Given the description of an element on the screen output the (x, y) to click on. 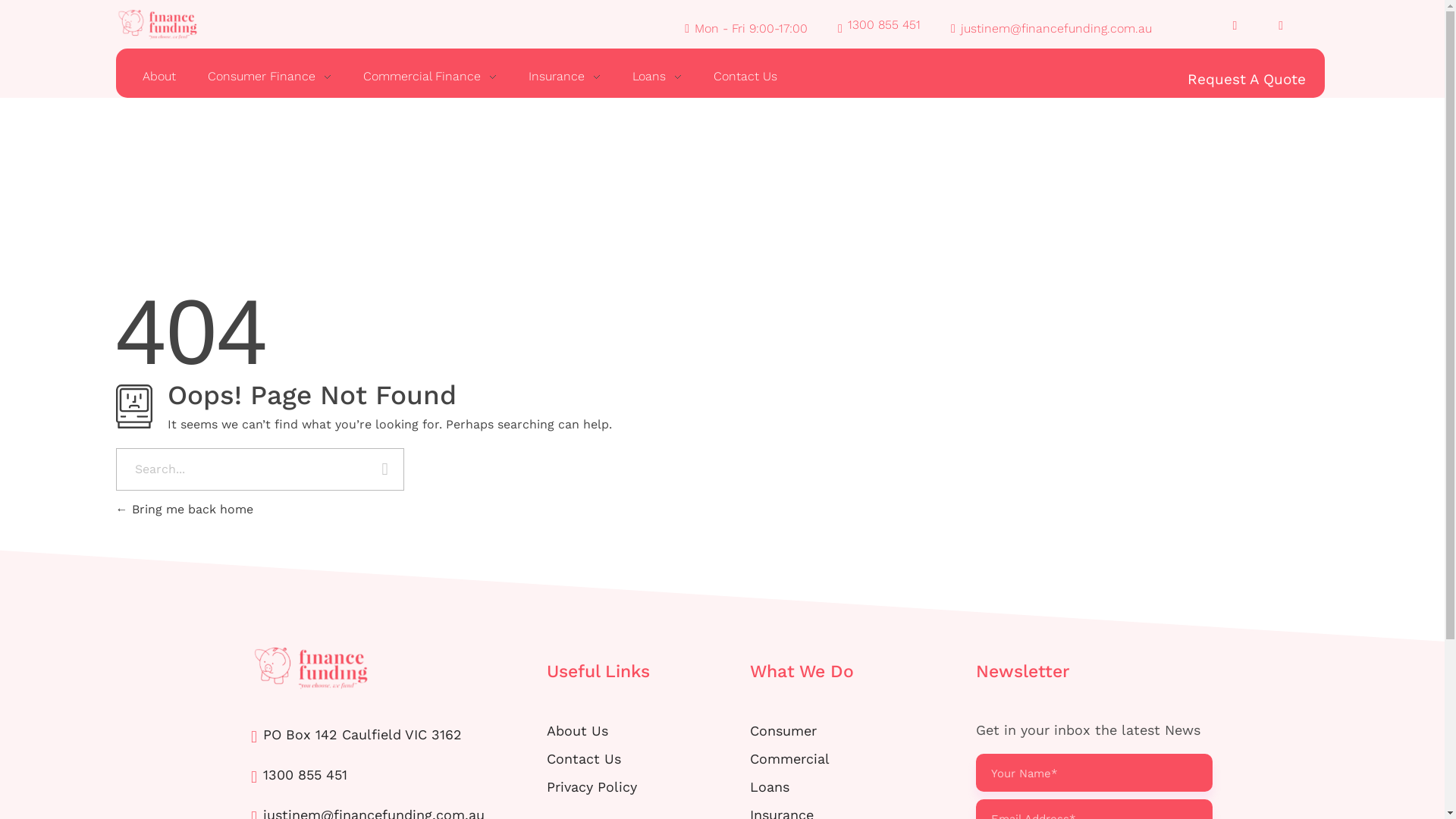
1300 855 451 Element type: text (299, 776)
Loans Element type: text (769, 786)
Finance Funding Element type: text (322, 700)
Search Element type: text (385, 470)
Finance Funding Element type: hover (398, 667)
About Element type: text (166, 76)
Contact Us Element type: text (583, 758)
Loans Element type: text (655, 76)
Privacy Policy Element type: text (591, 786)
cropped-Finance-Funding1.png Element type: hover (157, 23)
Insurance Element type: text (564, 76)
Consumer Element type: text (782, 730)
Request A Quote Element type: text (1252, 80)
1300 855 451 Element type: text (878, 26)
Commercial Finance Element type: text (429, 76)
Contact Us Element type: text (737, 76)
Consumer Finance Element type: text (268, 76)
About Us Element type: text (577, 730)
Commercial Element type: text (789, 758)
Bring me back home Element type: text (183, 509)
